Given the description of an element on the screen output the (x, y) to click on. 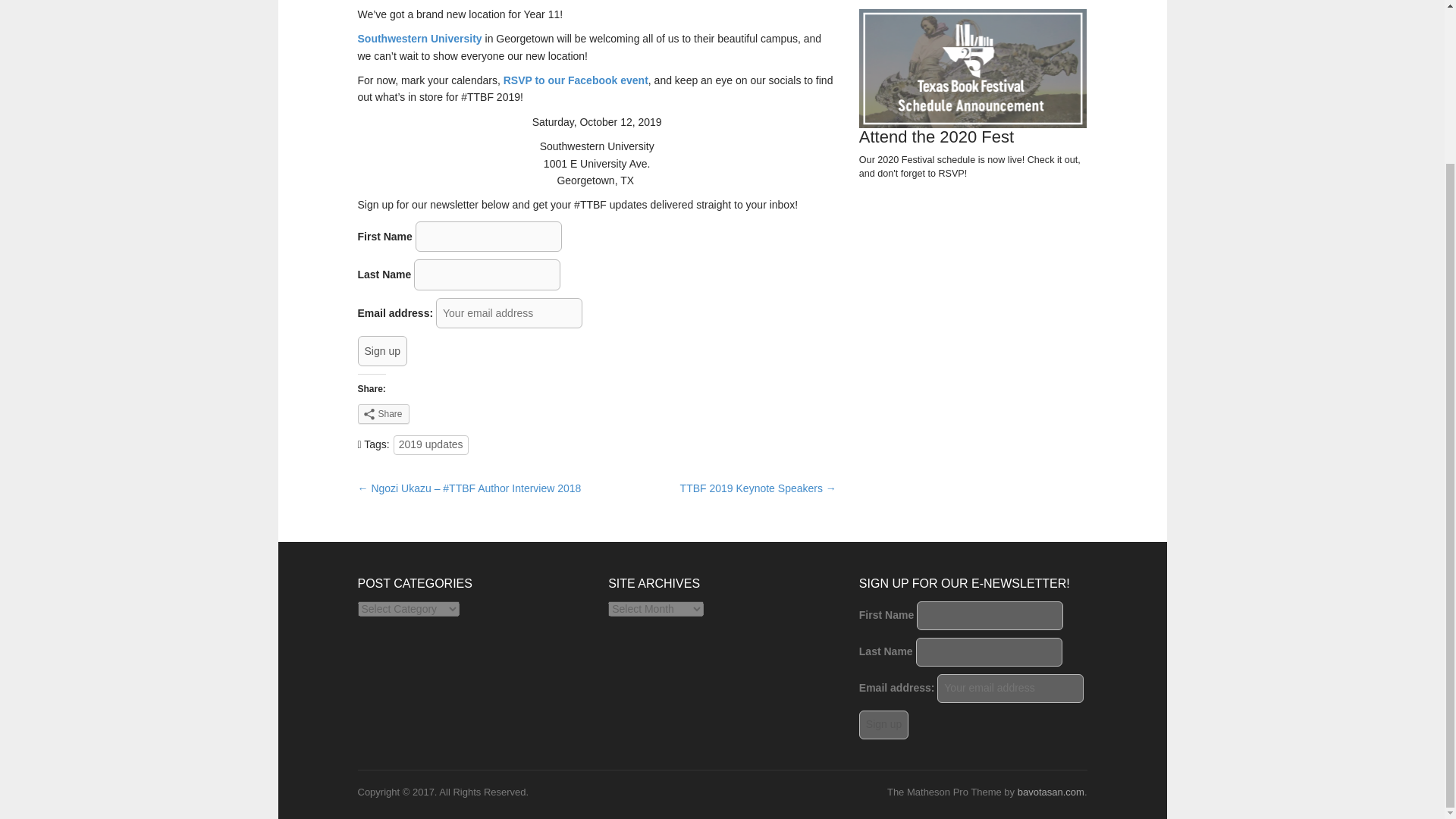
Share (383, 414)
Southwestern University (419, 38)
Sign up (883, 724)
Sign up (382, 350)
2019 updates (430, 444)
RSVP to our Facebook event (575, 80)
Sign up (382, 350)
